Given the description of an element on the screen output the (x, y) to click on. 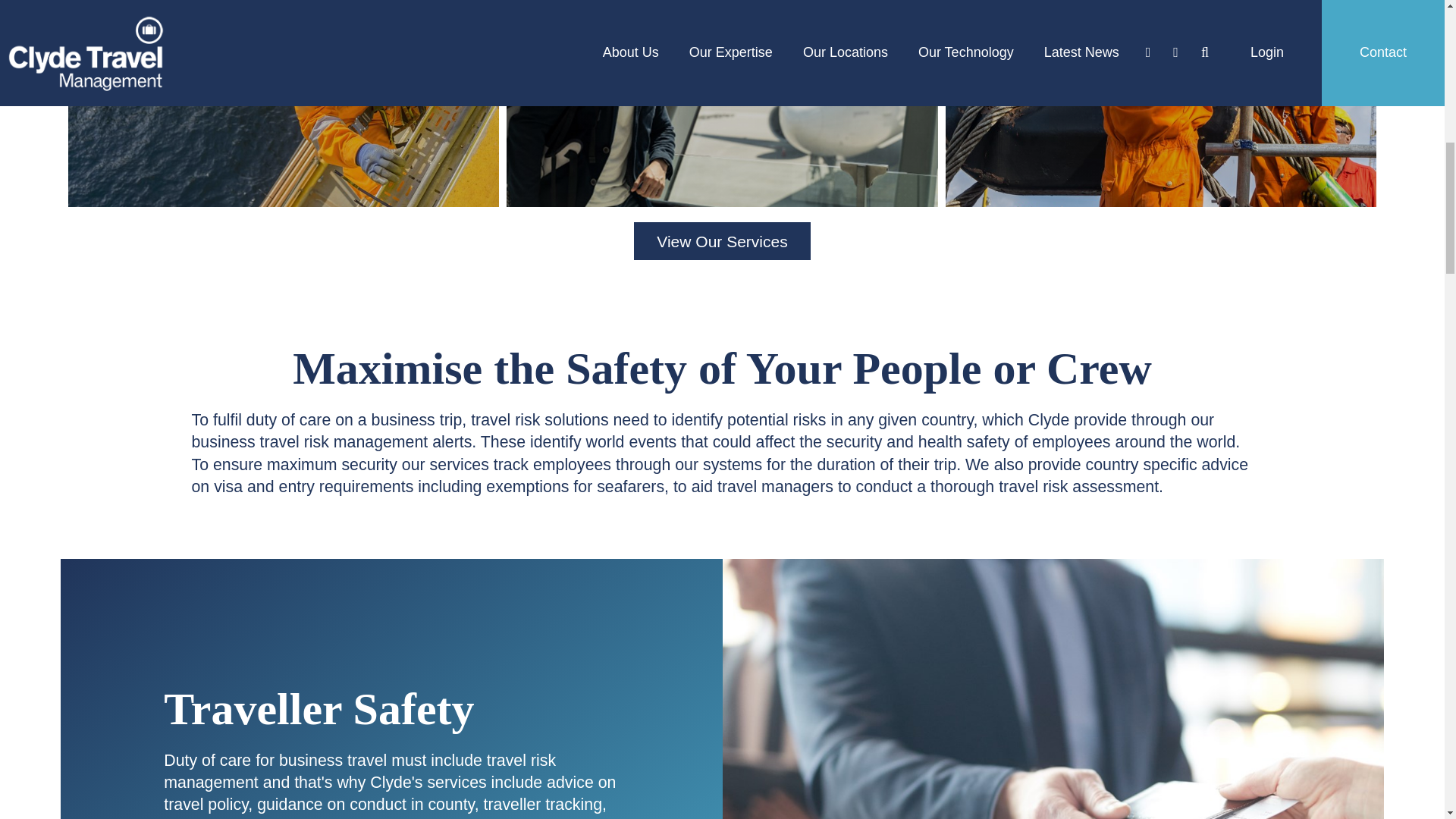
View Our Services (721, 240)
